Given the description of an element on the screen output the (x, y) to click on. 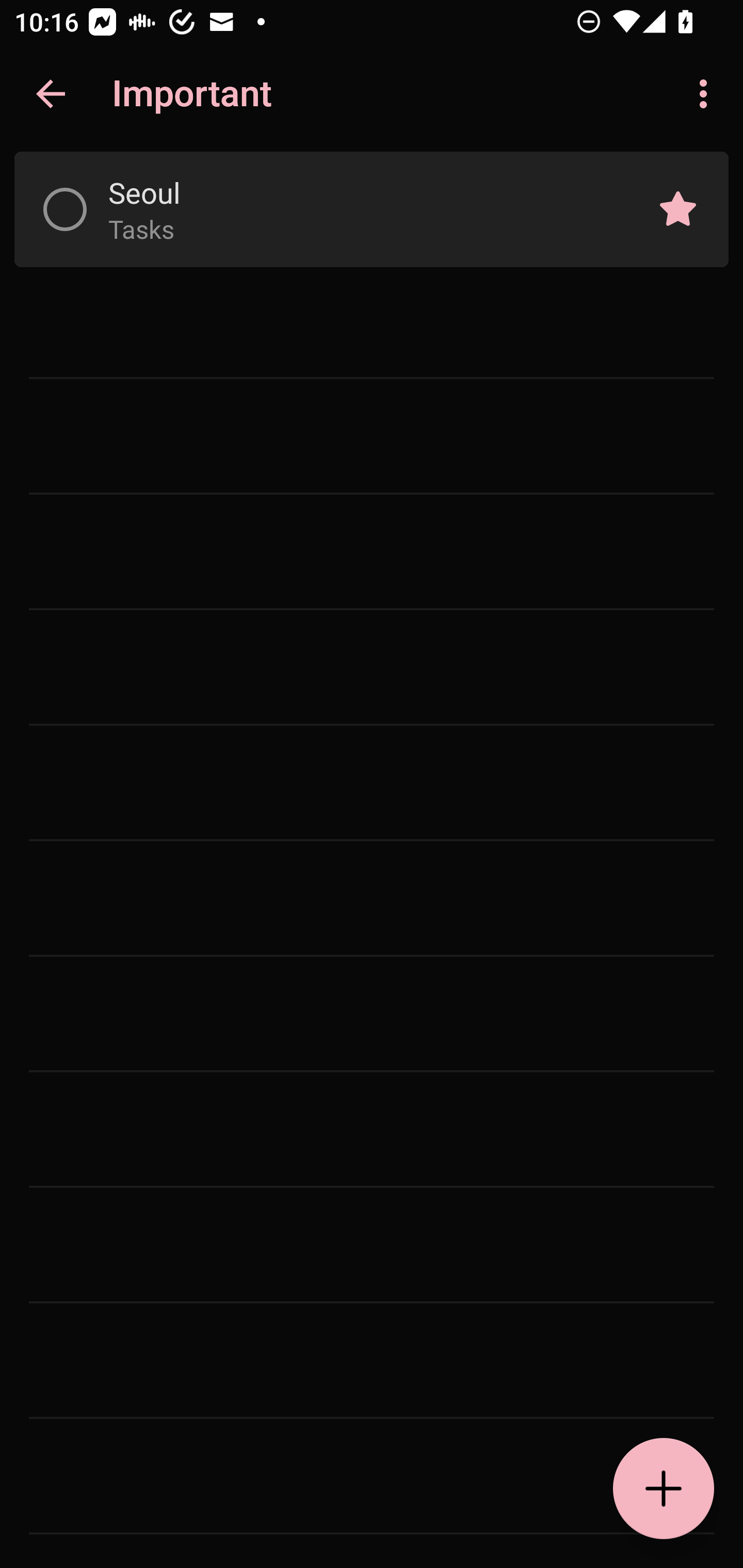
Back (50, 93)
More options (706, 93)
Incomplete task Seoul, Button (64, 209)
Important task Seoul, Button (677, 209)
Seoul (356, 191)
Add a task (663, 1488)
